Given the description of an element on the screen output the (x, y) to click on. 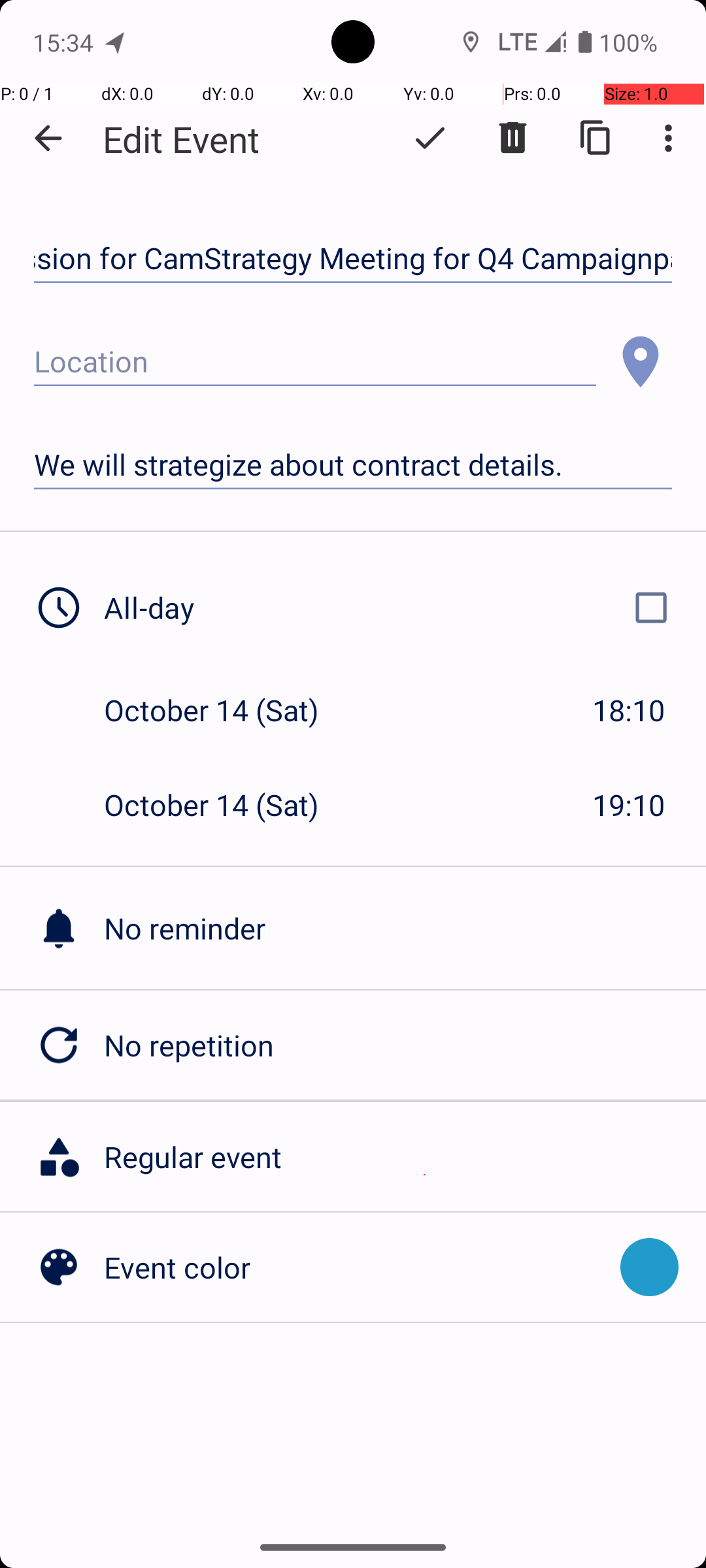
Review session for CamStrategy Meeting for Q4 Campaignpaign Element type: android.widget.EditText (352, 258)
We will strategize about contract details. Element type: android.widget.EditText (352, 465)
October 14 (Sat) Element type: android.widget.TextView (224, 709)
18:10 Element type: android.widget.TextView (628, 709)
19:10 Element type: android.widget.TextView (628, 804)
